Given the description of an element on the screen output the (x, y) to click on. 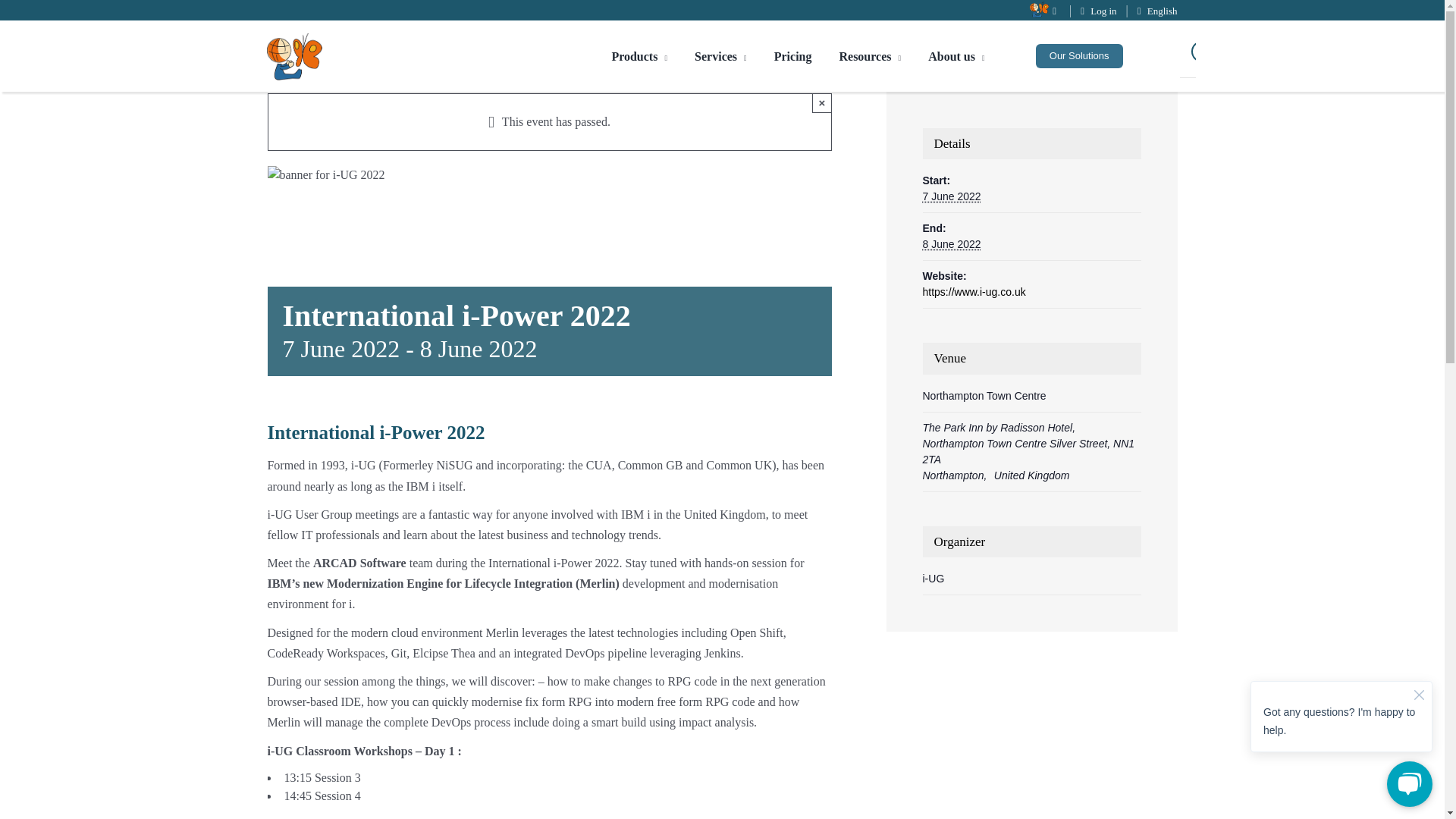
Our Solutions (1078, 55)
Services (720, 56)
2022-06-07 (950, 196)
Pricing (793, 56)
2022-06-08 (950, 244)
Let's perform a search (1204, 51)
About us (956, 56)
Products (638, 56)
Resources (869, 56)
